Given the description of an element on the screen output the (x, y) to click on. 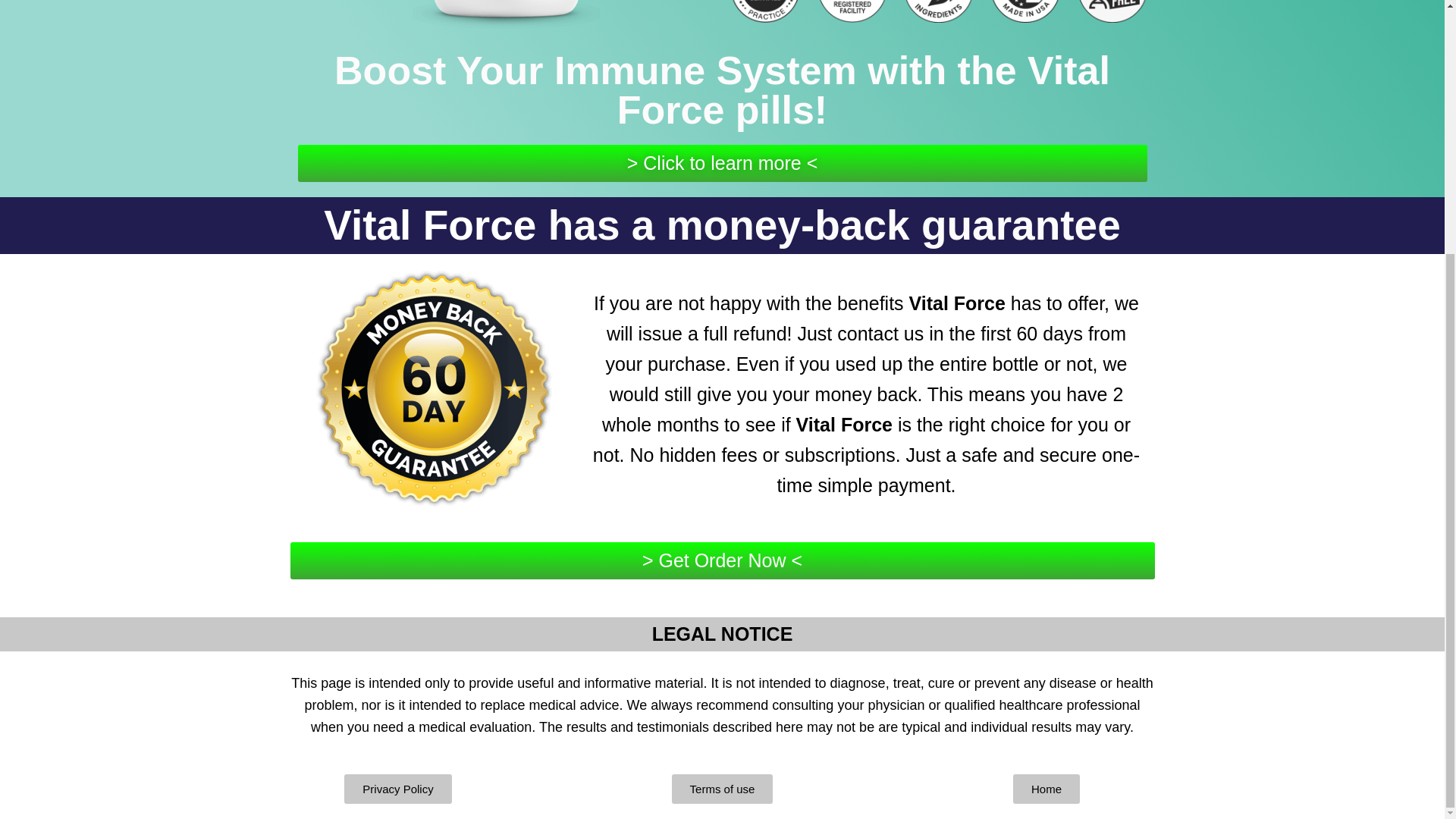
Home (1046, 788)
Terms of use (722, 788)
Privacy Policy (397, 788)
